Given the description of an element on the screen output the (x, y) to click on. 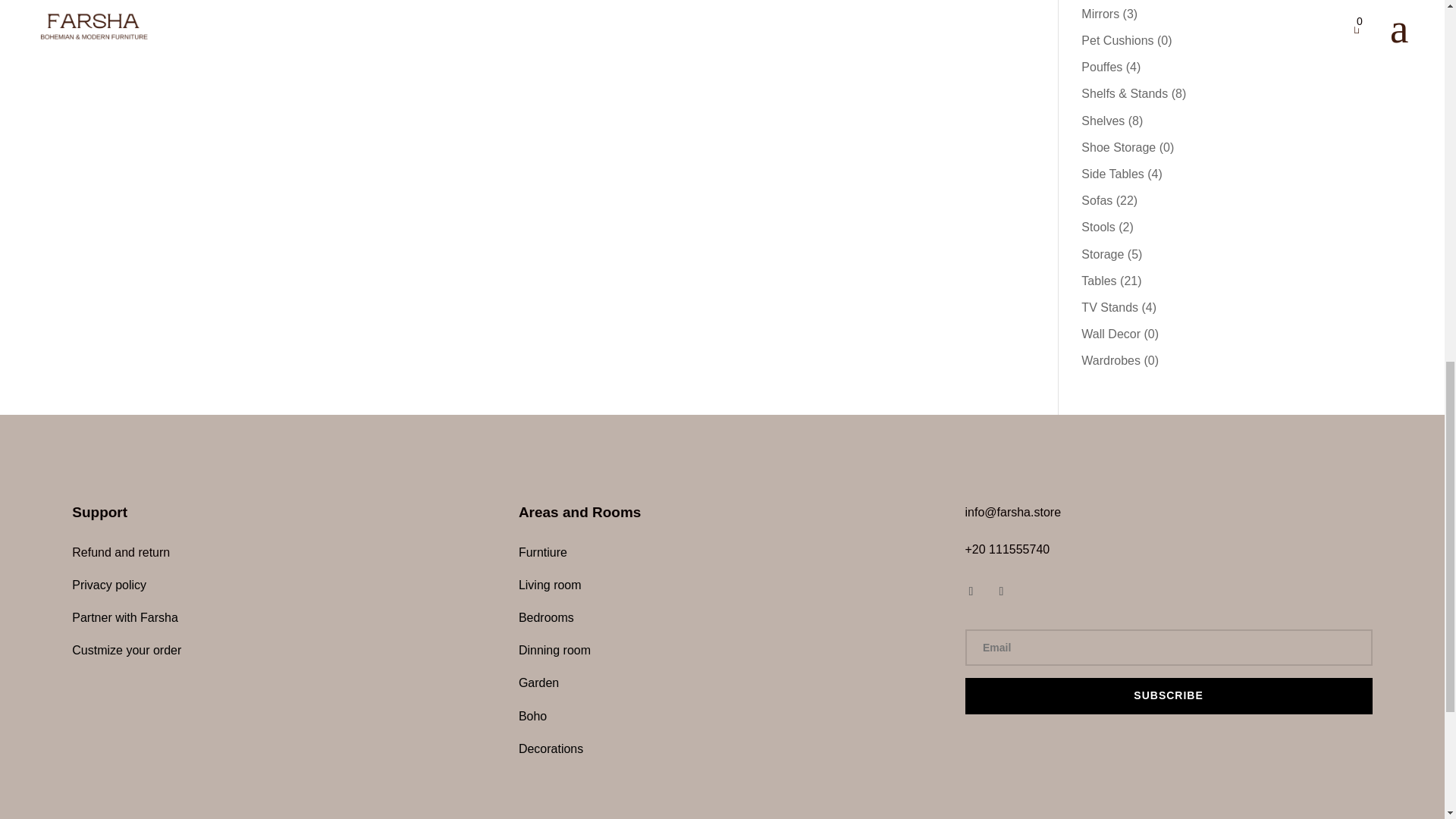
visa (722, 817)
Follow on Instagram (1000, 591)
Follow on Facebook (970, 591)
mastercard (264, 817)
